Given the description of an element on the screen output the (x, y) to click on. 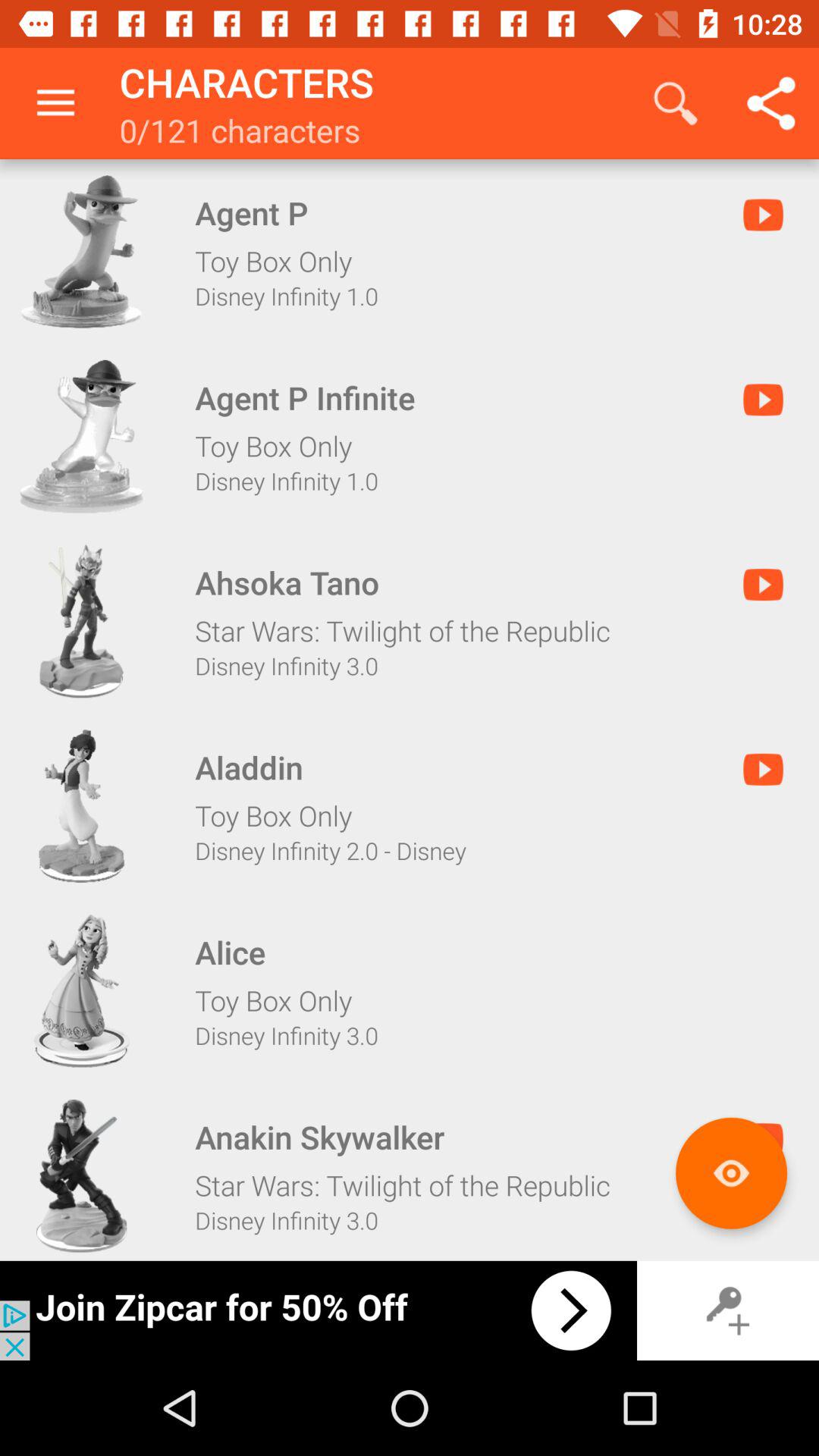
click the anakin skywalker charactor (81, 1175)
